Given the description of an element on the screen output the (x, y) to click on. 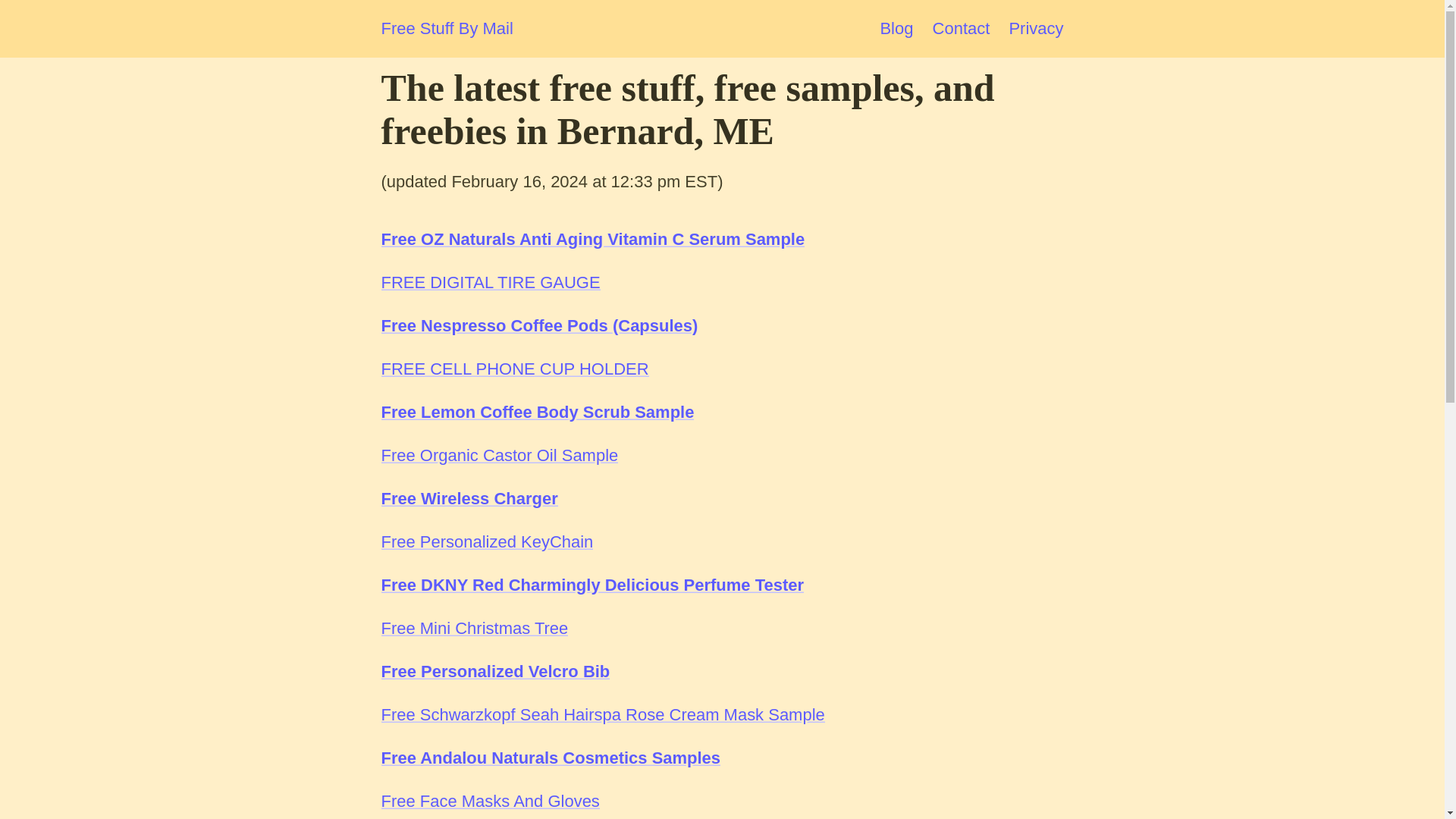
Free Andalou Naturals Cosmetics Samples (550, 757)
Free Mini Christmas Tree (473, 628)
Free Schwarzkopf Seah Hairspa Rose Cream Mask Sample (602, 714)
Free Lemon Coffee Body Scrub Sample (537, 411)
Free OZ Naturals Anti Aging Vitamin C Serum Sample (592, 239)
Free Personalized Velcro Bib (495, 670)
Free Stuff By Mail (446, 28)
Free Organic Castor Oil Sample (498, 455)
Privacy (1035, 27)
Free DKNY Red Charmingly Delicious Perfume Tester (591, 584)
Free Wireless Charger (468, 497)
FREE DIGITAL TIRE GAUGE (489, 281)
Blog (895, 27)
Contact (961, 27)
FREE CELL PHONE CUP HOLDER (513, 368)
